Given the description of an element on the screen output the (x, y) to click on. 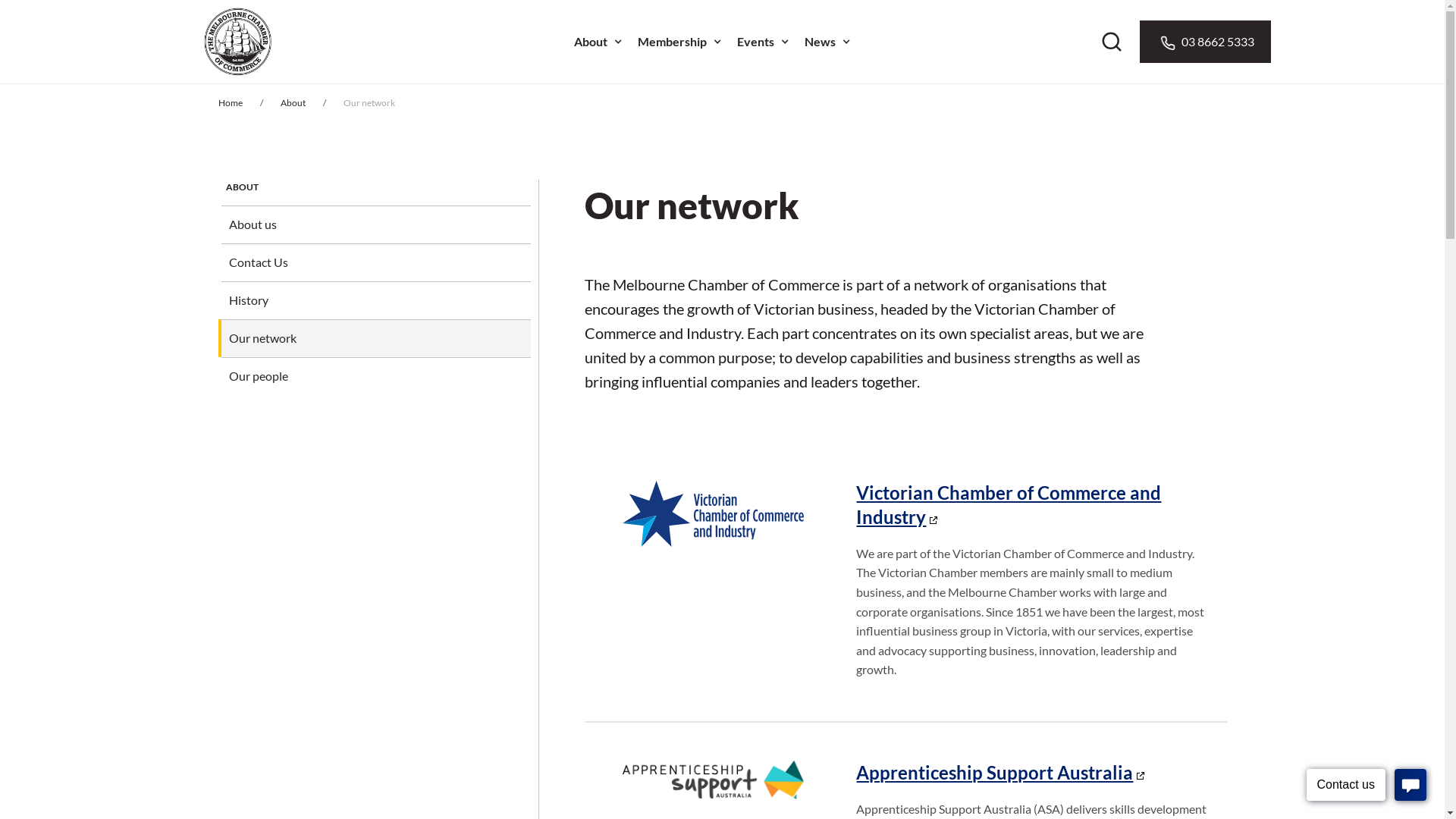
Victorian Chamber of Commerce and Industry Element type: text (1008, 504)
Our people Element type: text (379, 375)
Our network Element type: text (368, 102)
About us Element type: text (379, 224)
Apprenticeship Support Australia Element type: text (1001, 772)
03 8662 5333 Element type: text (1204, 41)
Contact Us Element type: text (379, 262)
Our network Element type: text (379, 338)
Pure Chat Live Chat Element type: hover (1366, 786)
Home Element type: text (230, 102)
History Element type: text (379, 300)
About Element type: text (292, 102)
